Given the description of an element on the screen output the (x, y) to click on. 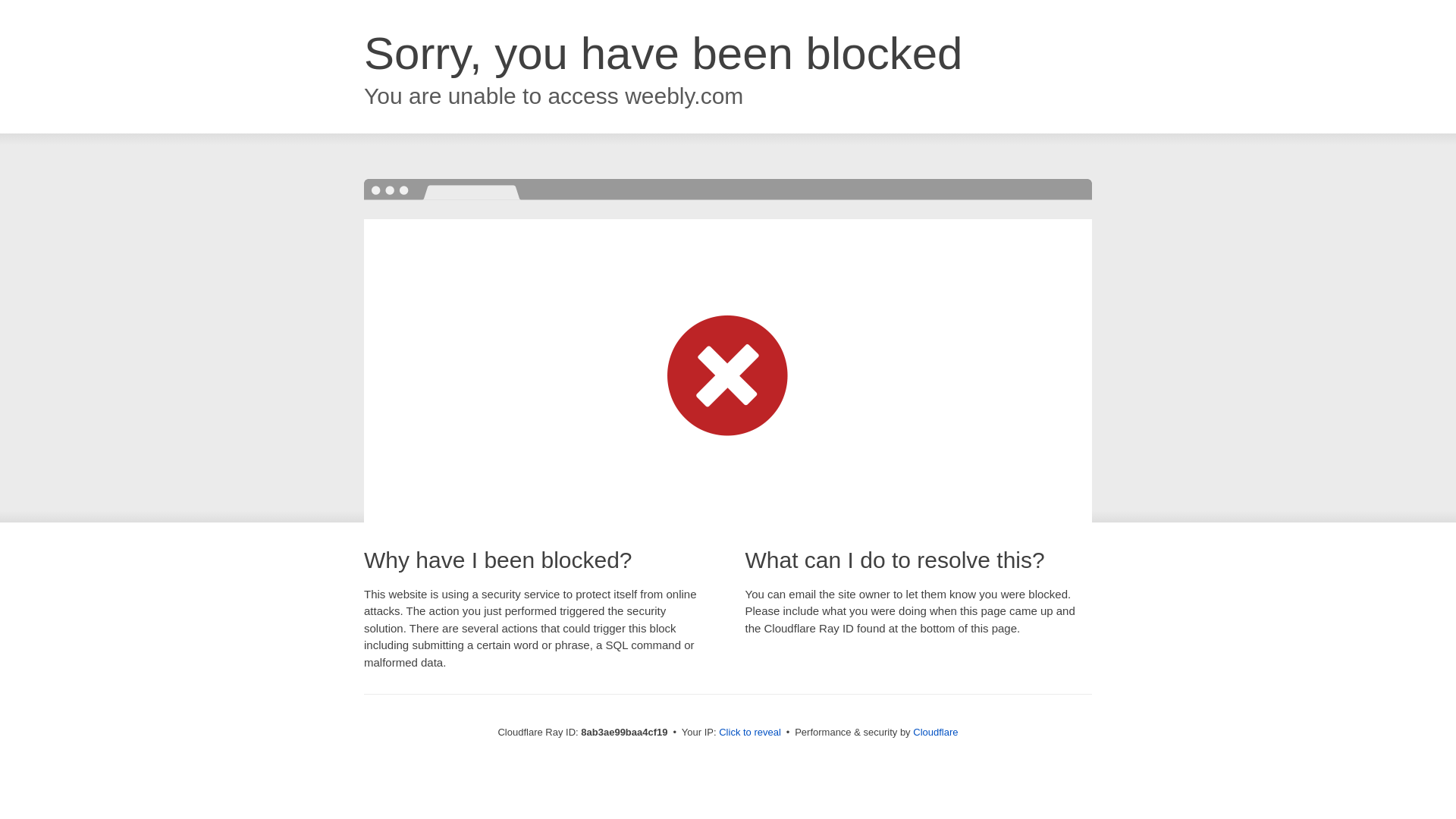
Cloudflare (935, 731)
Click to reveal (749, 732)
